Given the description of an element on the screen output the (x, y) to click on. 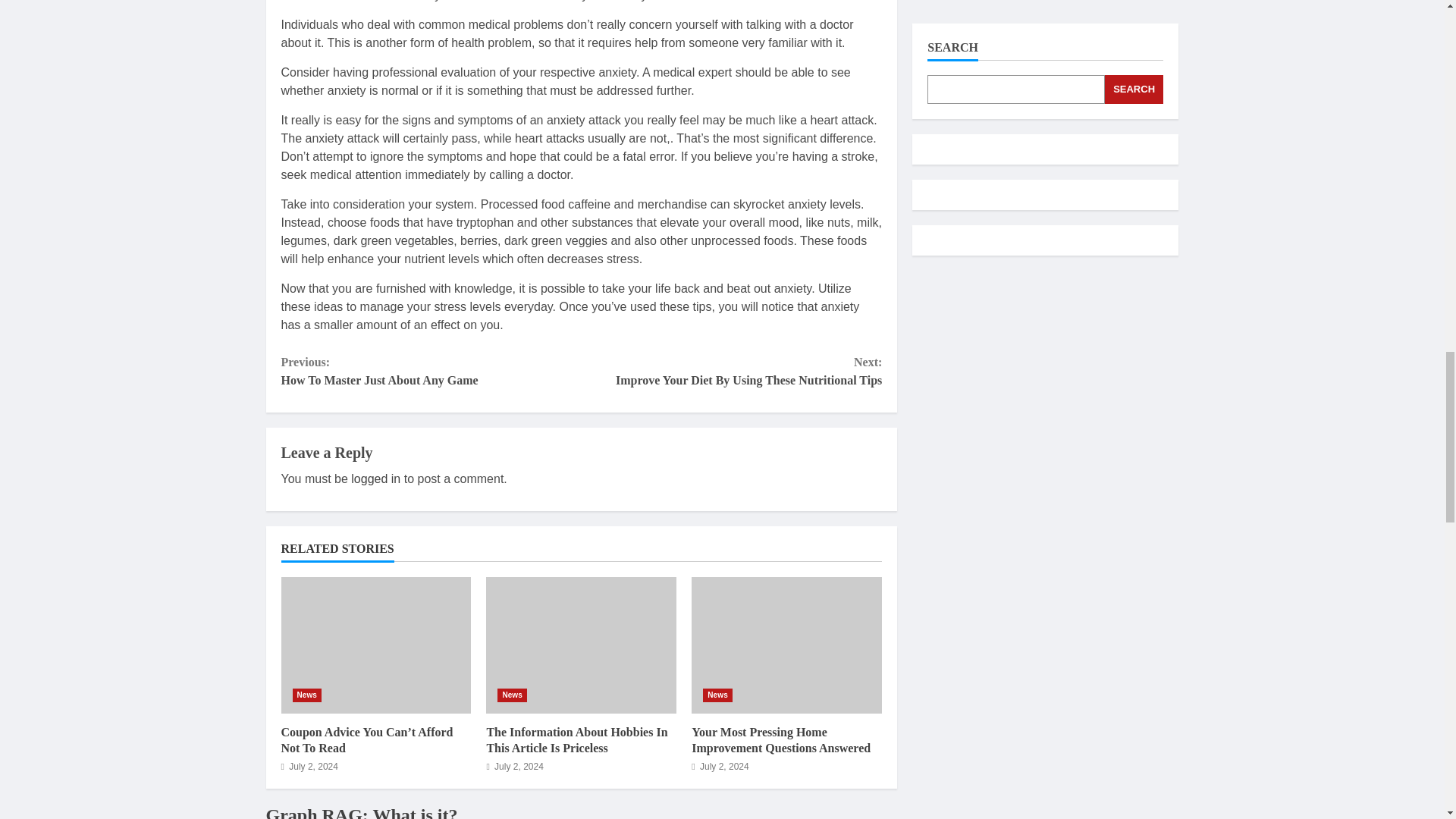
Your Most Pressing Home Improvement Questions Answered (780, 739)
Your Most Pressing Home Improvement Questions Answered (786, 645)
logged in (375, 478)
Graph RAG: What is it? (360, 812)
News (717, 694)
The Information About Hobbies In This Article Is Priceless (581, 645)
News (512, 694)
News (430, 370)
The Information About Hobbies In This Article Is Priceless (306, 694)
